Given the description of an element on the screen output the (x, y) to click on. 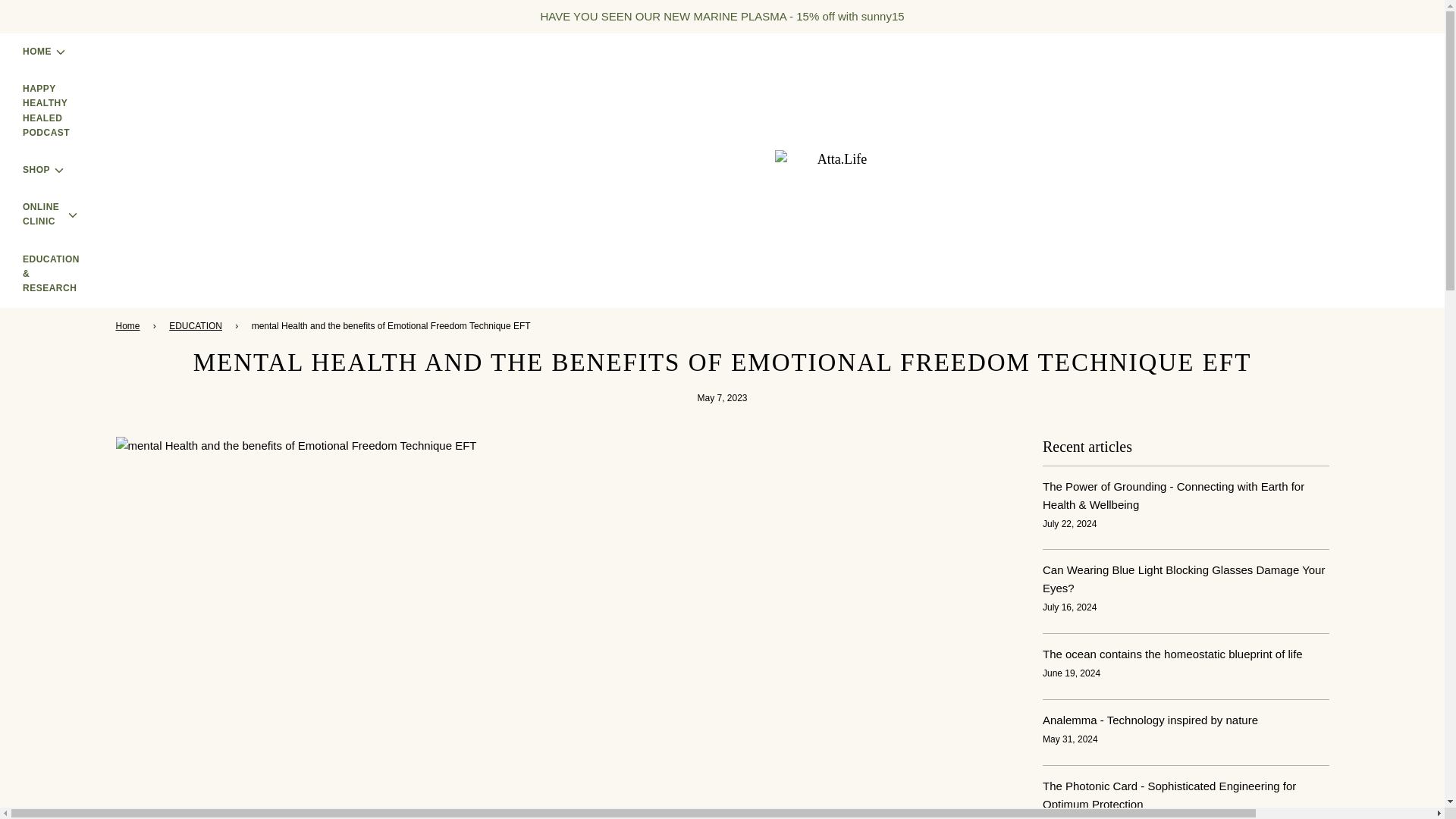
Back to the frontpage (129, 326)
